Given the description of an element on the screen output the (x, y) to click on. 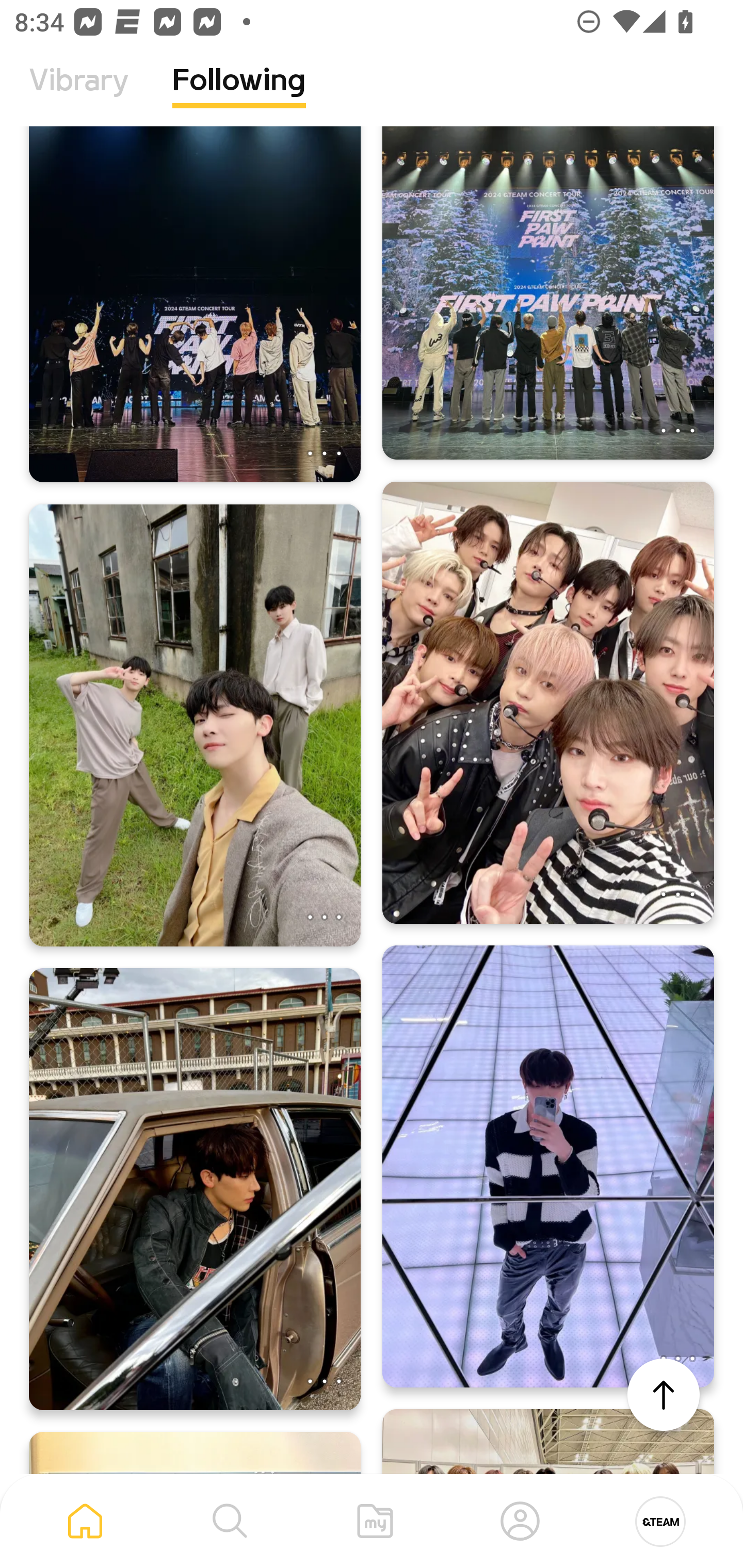
Vibrary (78, 95)
Following (239, 95)
